Given the description of an element on the screen output the (x, y) to click on. 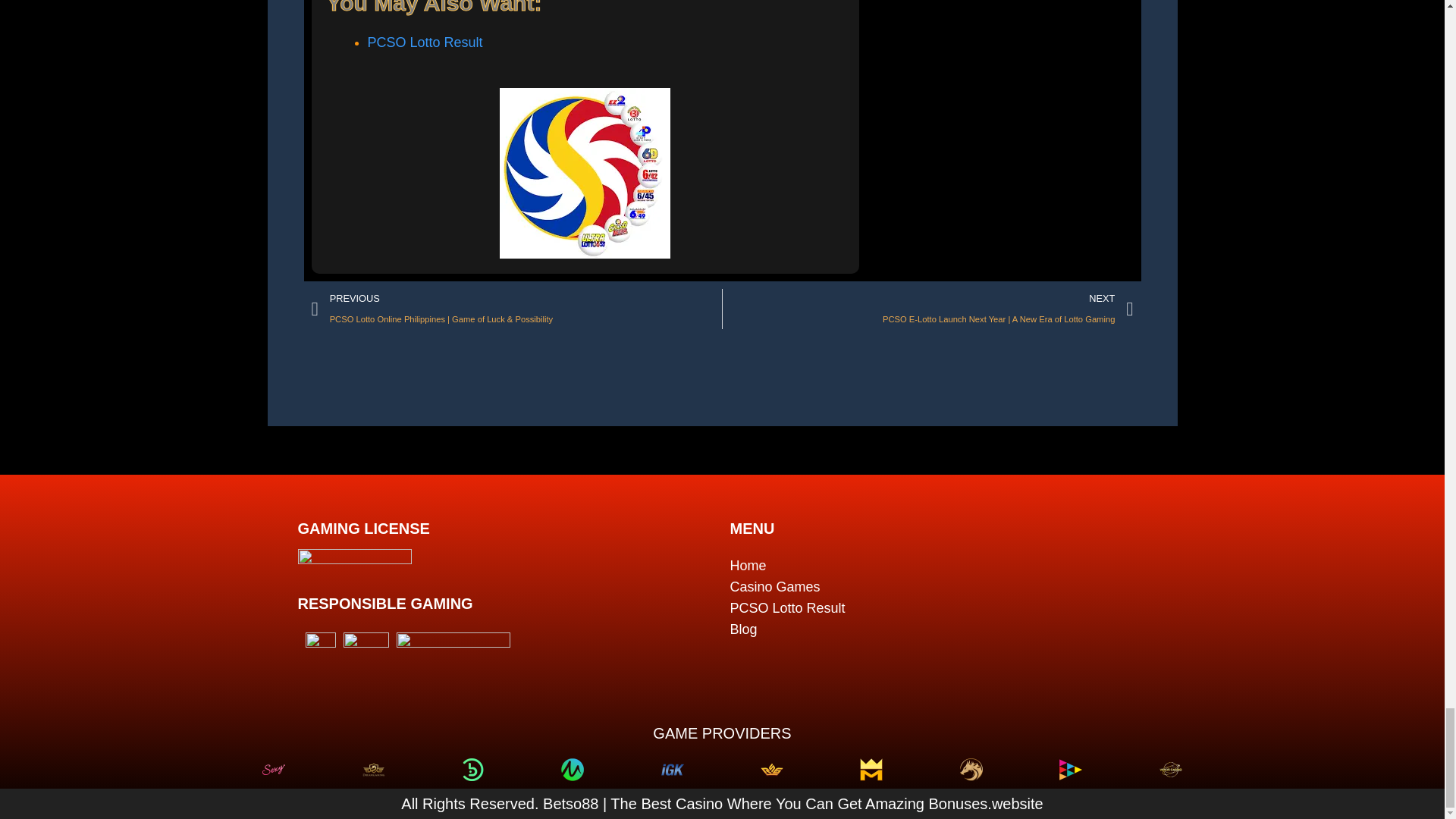
Casino Games (938, 586)
PCSO Lotto Result (423, 42)
PCSO Lotto Result (938, 608)
Blog (938, 629)
Home (938, 565)
